Given the description of an element on the screen output the (x, y) to click on. 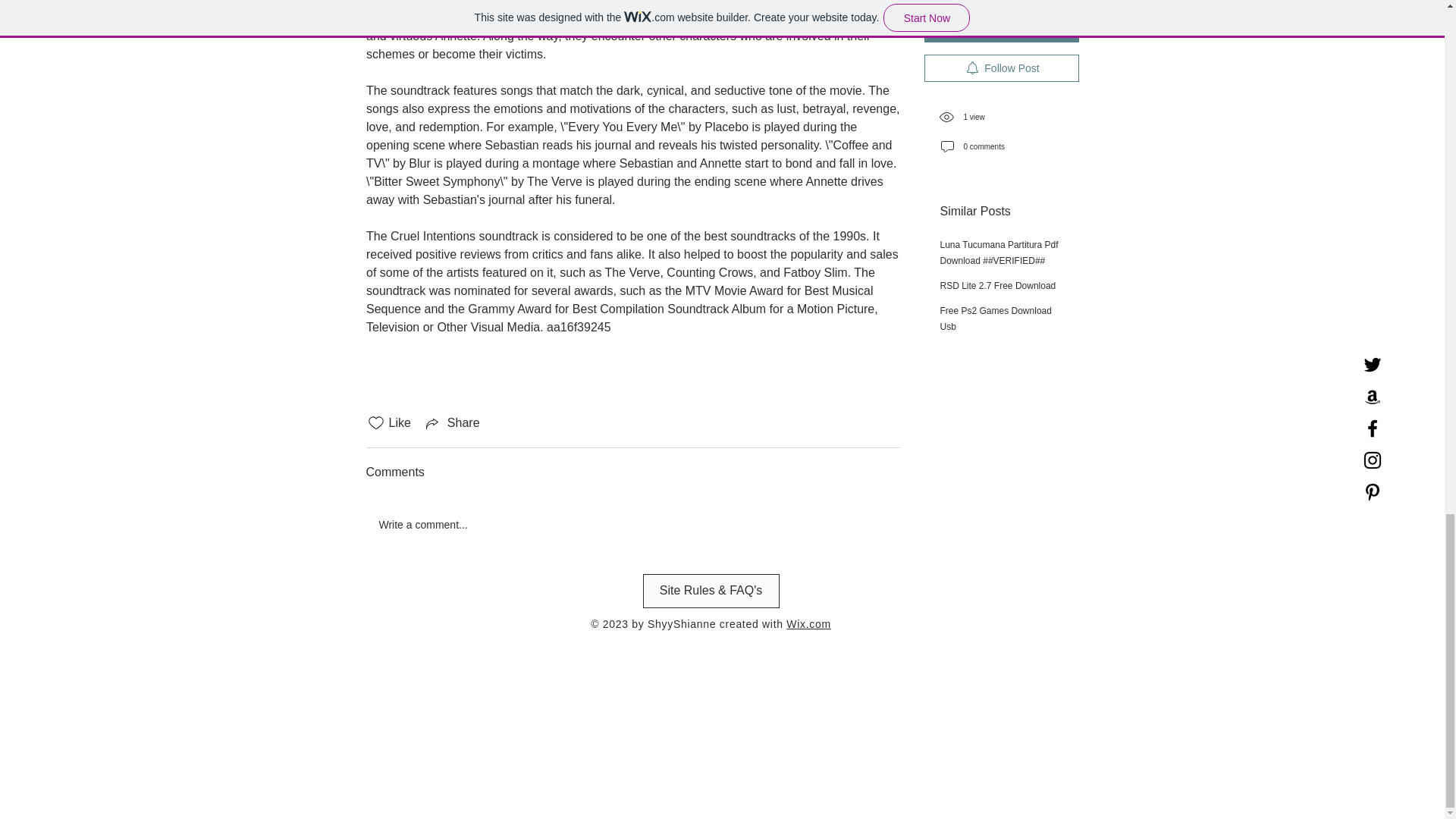
Share (451, 423)
Write a comment... (632, 524)
Wix.com (808, 623)
